Given the description of an element on the screen output the (x, y) to click on. 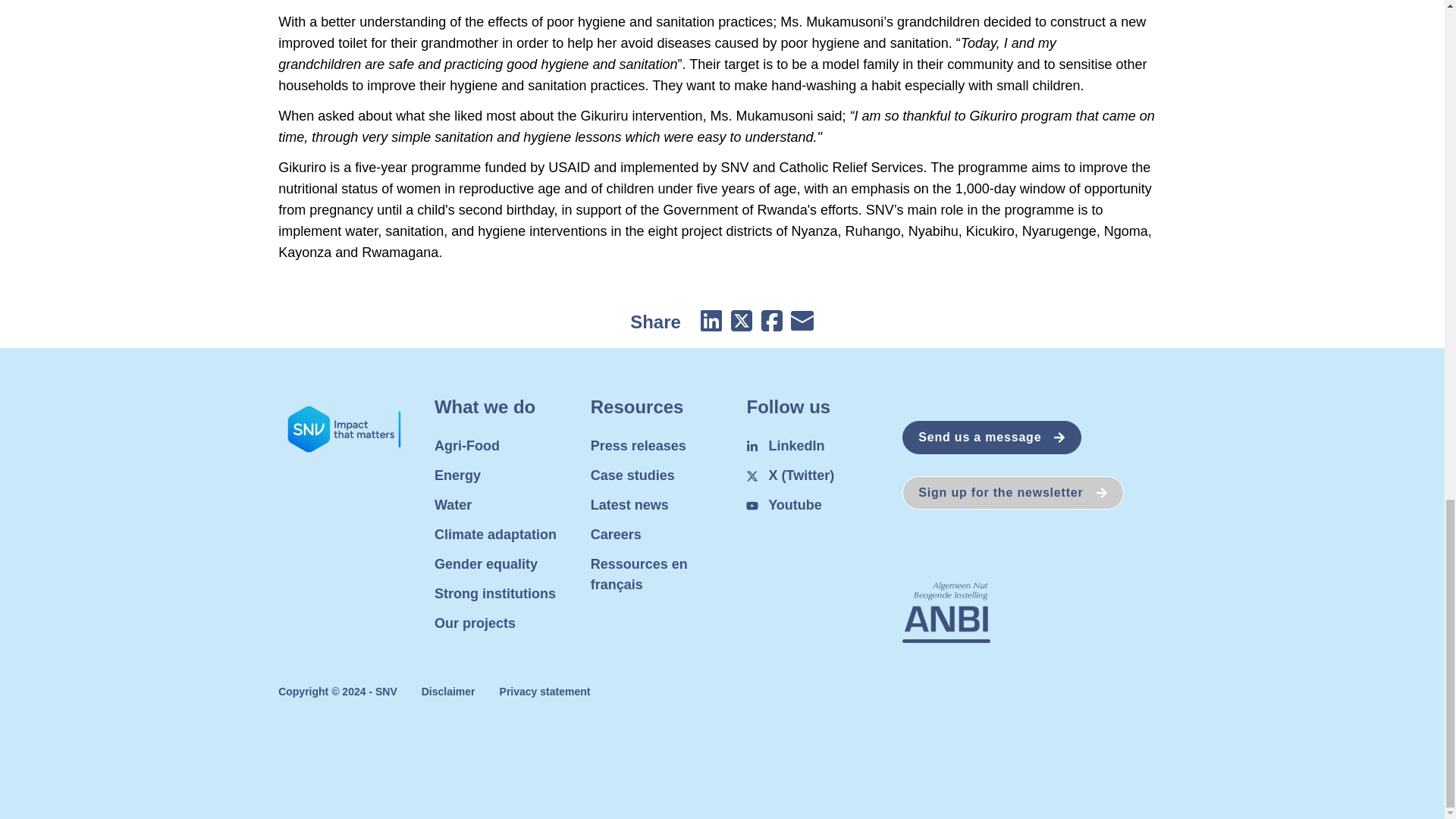
Climate adaptation (494, 534)
Press releases (638, 445)
Strong institutions (494, 593)
Careers (616, 534)
Case studies (633, 475)
Latest news (629, 504)
Gender equality (485, 563)
Water (452, 504)
Agri-Food (466, 445)
Energy (456, 475)
Our projects (474, 622)
